Given the description of an element on the screen output the (x, y) to click on. 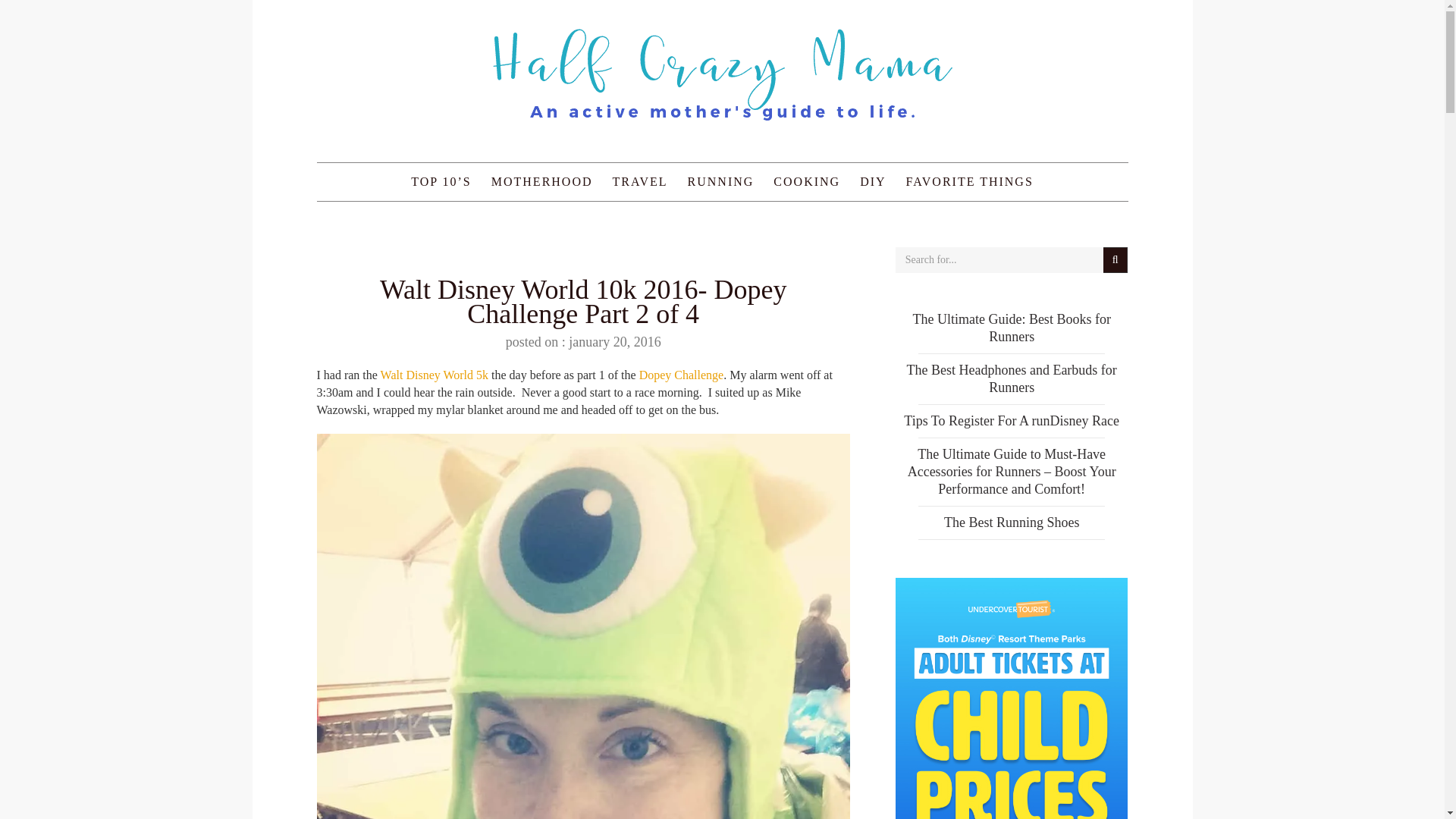
FAVORITE THINGS (969, 181)
Walt Disney World 5k (432, 374)
The Best Running Shoes (1011, 522)
TRAVEL (640, 181)
Dopey Challenge (681, 374)
COOKING (806, 181)
Tips To Register For A runDisney Race (1011, 420)
DIY (872, 181)
posted on : january 20, 2016 (583, 341)
The Ultimate Guide: Best Books for Runners (1010, 327)
